Given the description of an element on the screen output the (x, y) to click on. 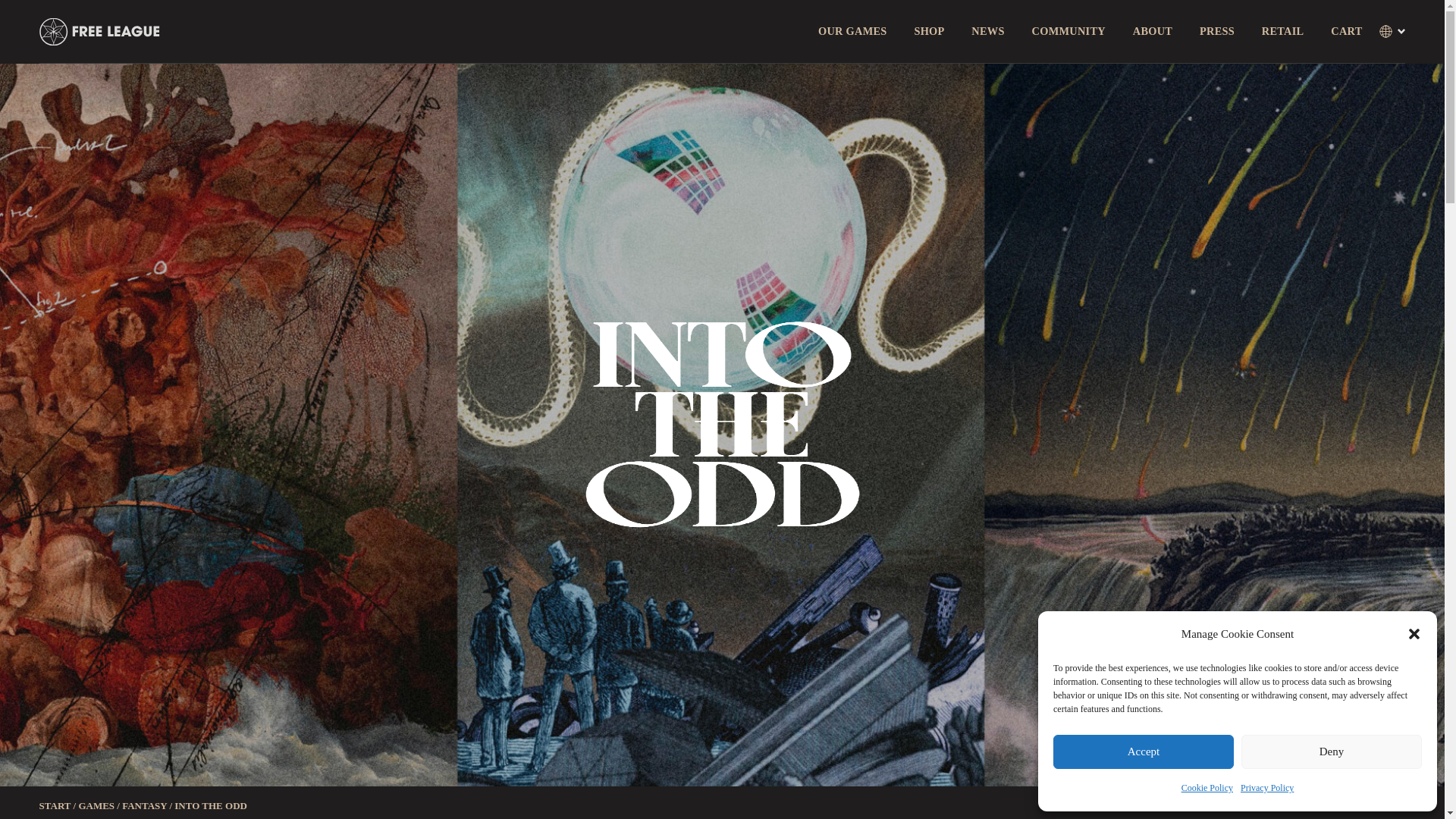
Privacy Policy (1267, 788)
Accept (1142, 751)
Deny (1331, 751)
SHOP (928, 31)
OUR GAMES (852, 31)
Cookie Policy (1206, 788)
